Given the description of an element on the screen output the (x, y) to click on. 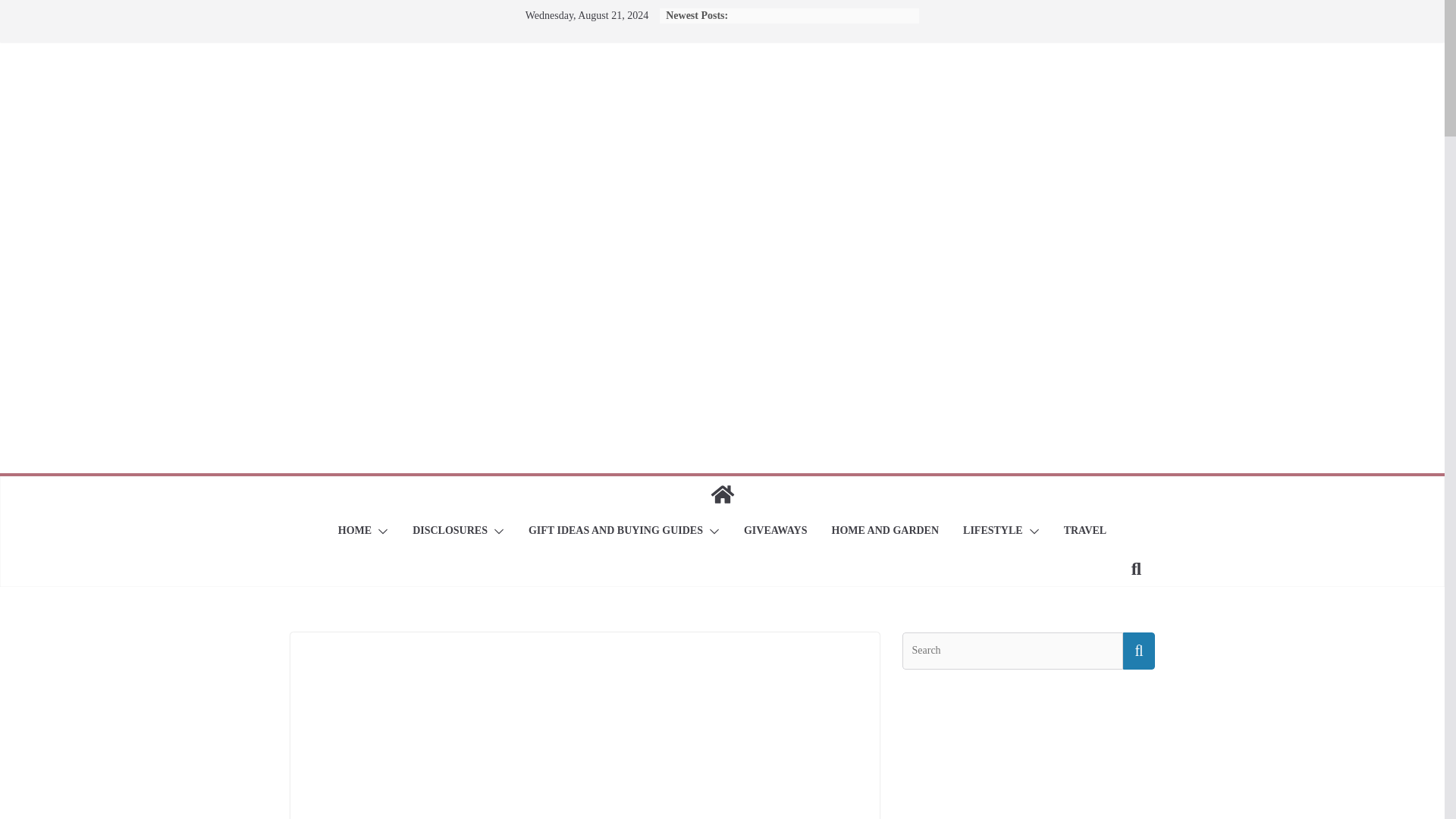
GIVEAWAYS (776, 531)
GIFT IDEAS AND BUYING GUIDES (615, 531)
TRAVEL (1085, 531)
HOME AND GARDEN (885, 531)
Beautiful Touches (721, 493)
LIFESTYLE (992, 531)
DISCLOSURES (449, 531)
HOME (354, 531)
